Given the description of an element on the screen output the (x, y) to click on. 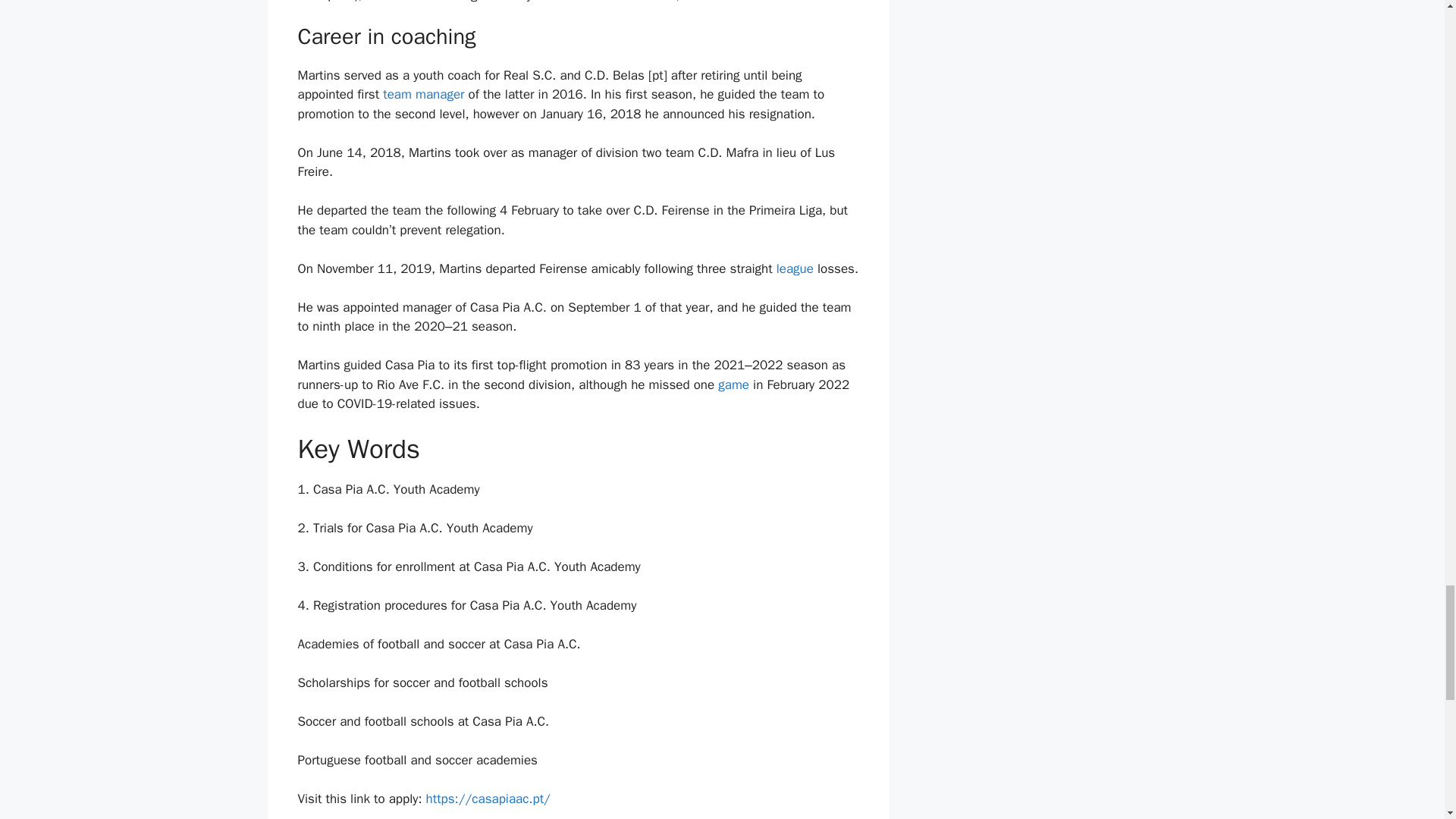
team manager (423, 94)
game (733, 384)
league (793, 268)
